Given the description of an element on the screen output the (x, y) to click on. 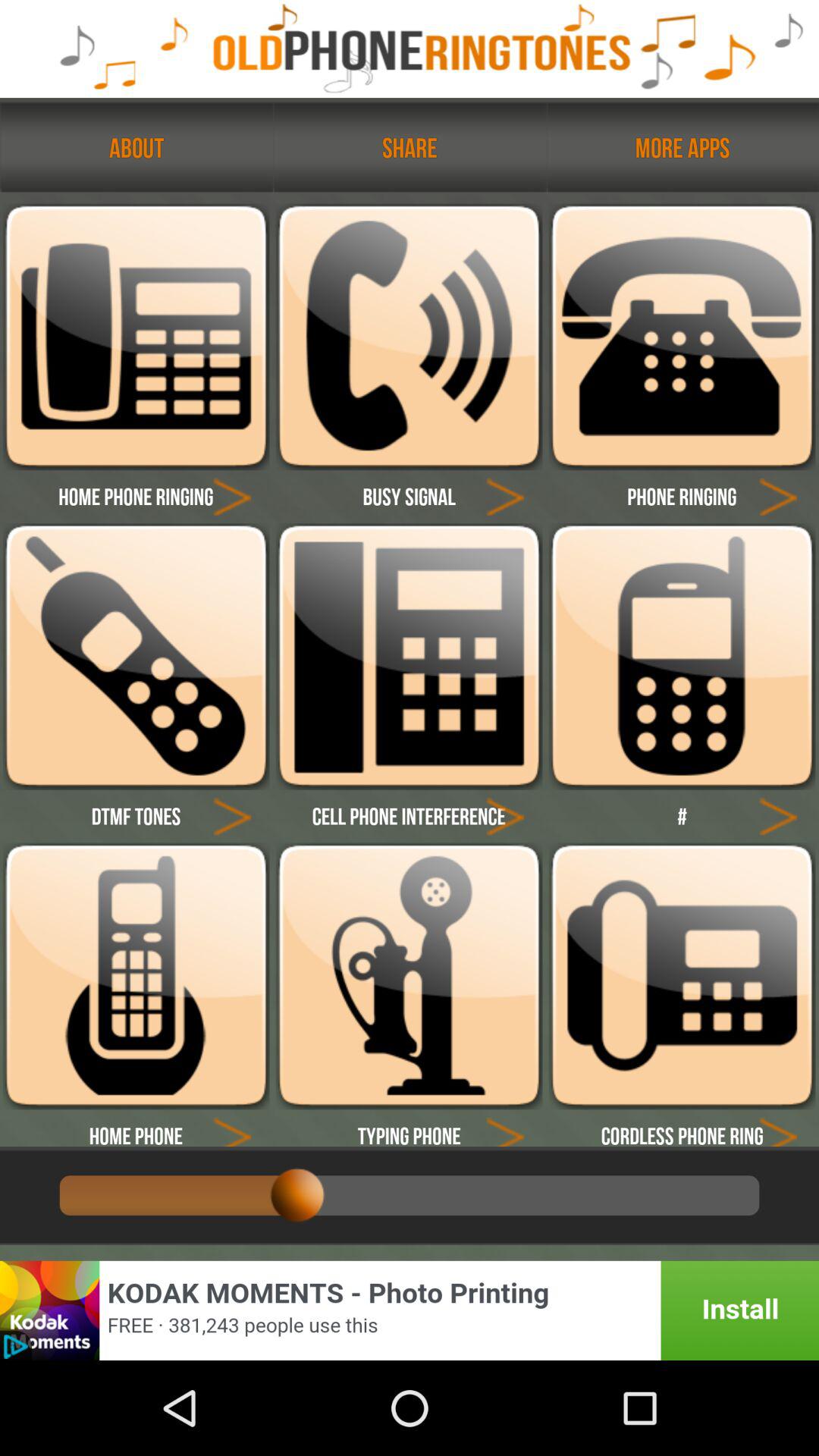
phone ringing (681, 656)
